Given the description of an element on the screen output the (x, y) to click on. 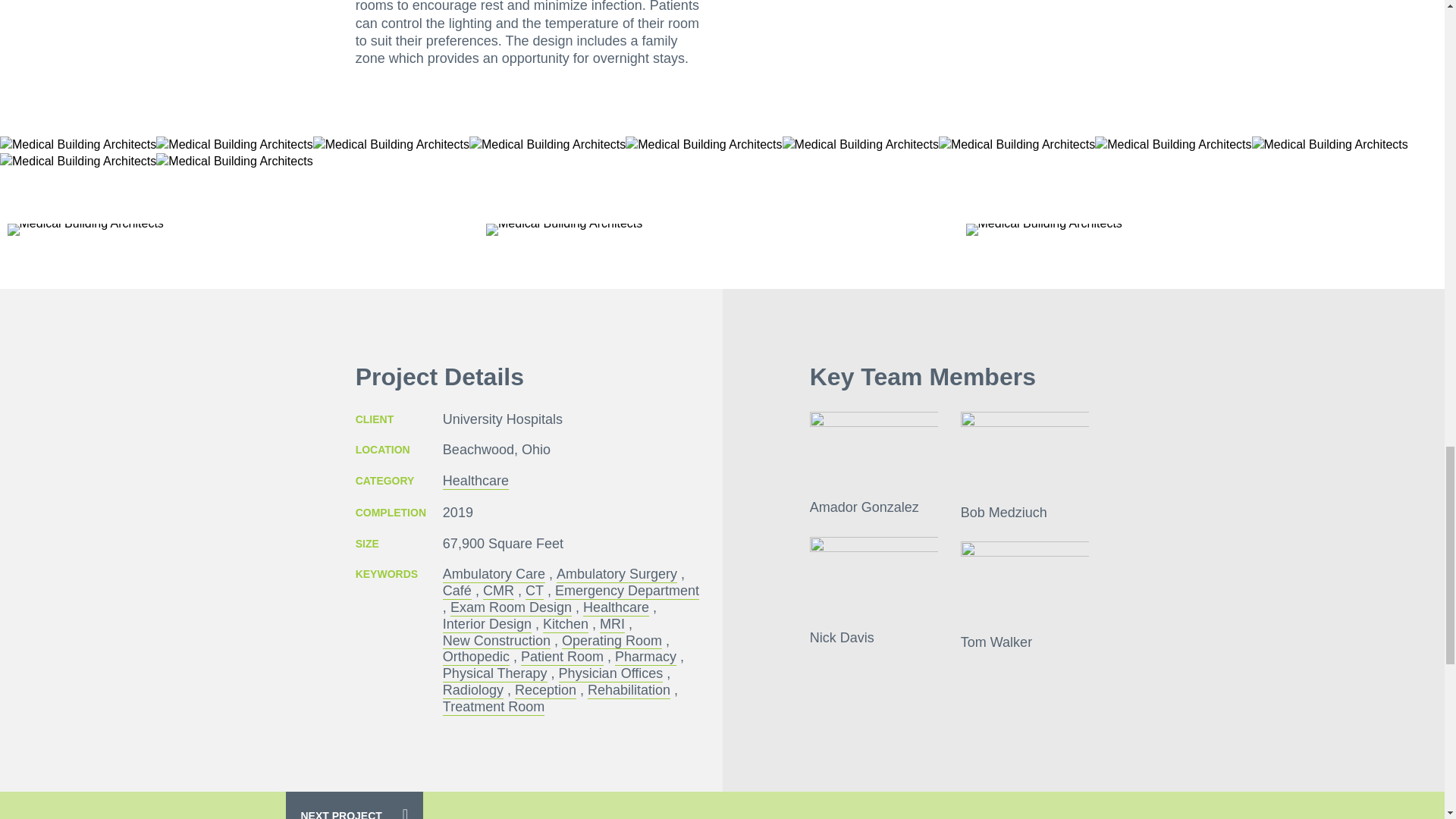
Healthcare (616, 607)
Ambulatory Surgery (616, 574)
Interior Design (486, 624)
Pharmacy (645, 657)
Healthcare (475, 481)
CT (534, 591)
Physical Therapy (494, 673)
Treatment Room (493, 707)
Reception (545, 690)
Orthopedic (475, 657)
